Given the description of an element on the screen output the (x, y) to click on. 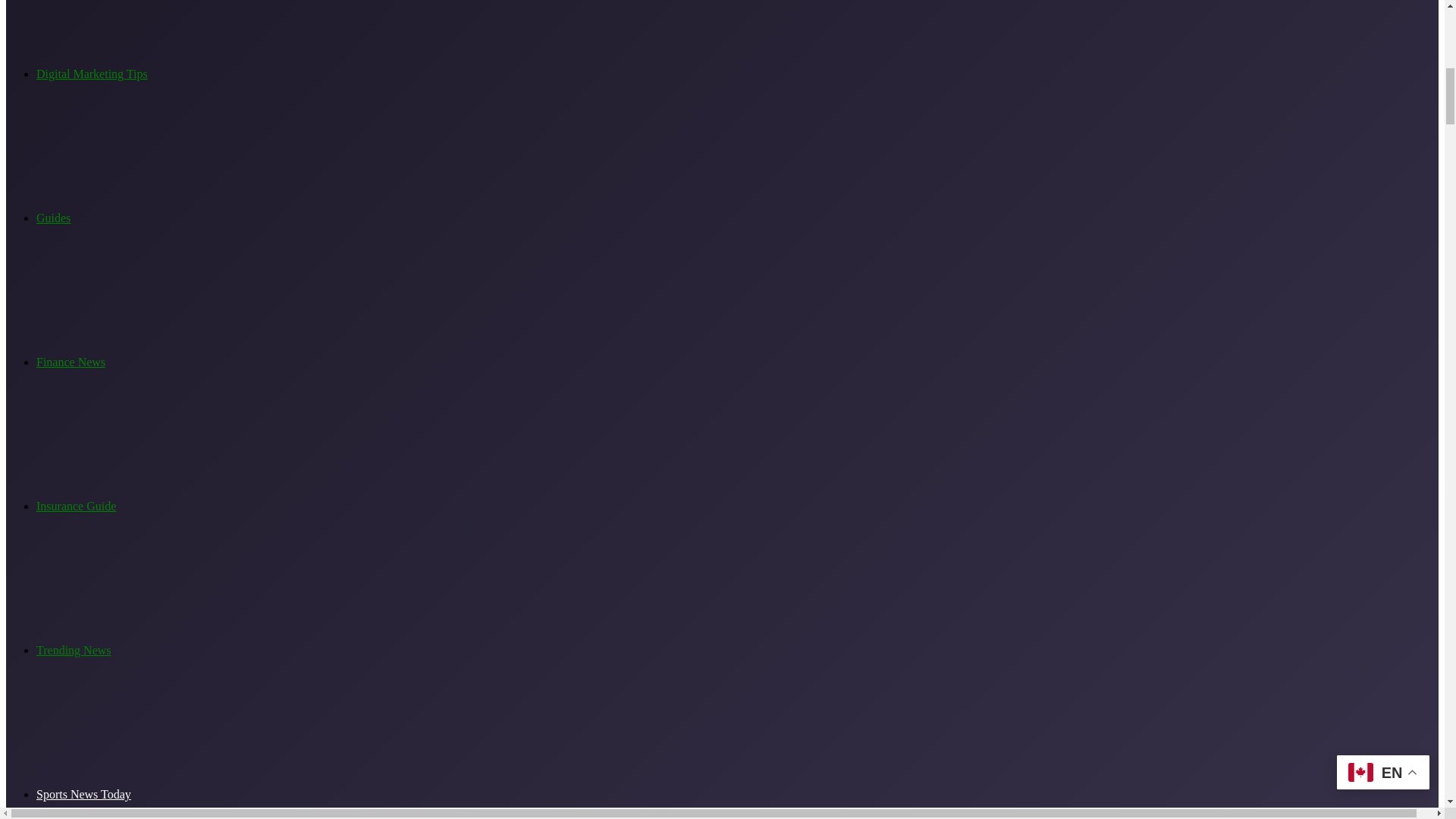
Guides (52, 217)
Sports News Today (83, 793)
Insurance Guide (76, 505)
Trending News (74, 649)
Finance News (70, 361)
Digital Marketing Tips (92, 73)
